Given the description of an element on the screen output the (x, y) to click on. 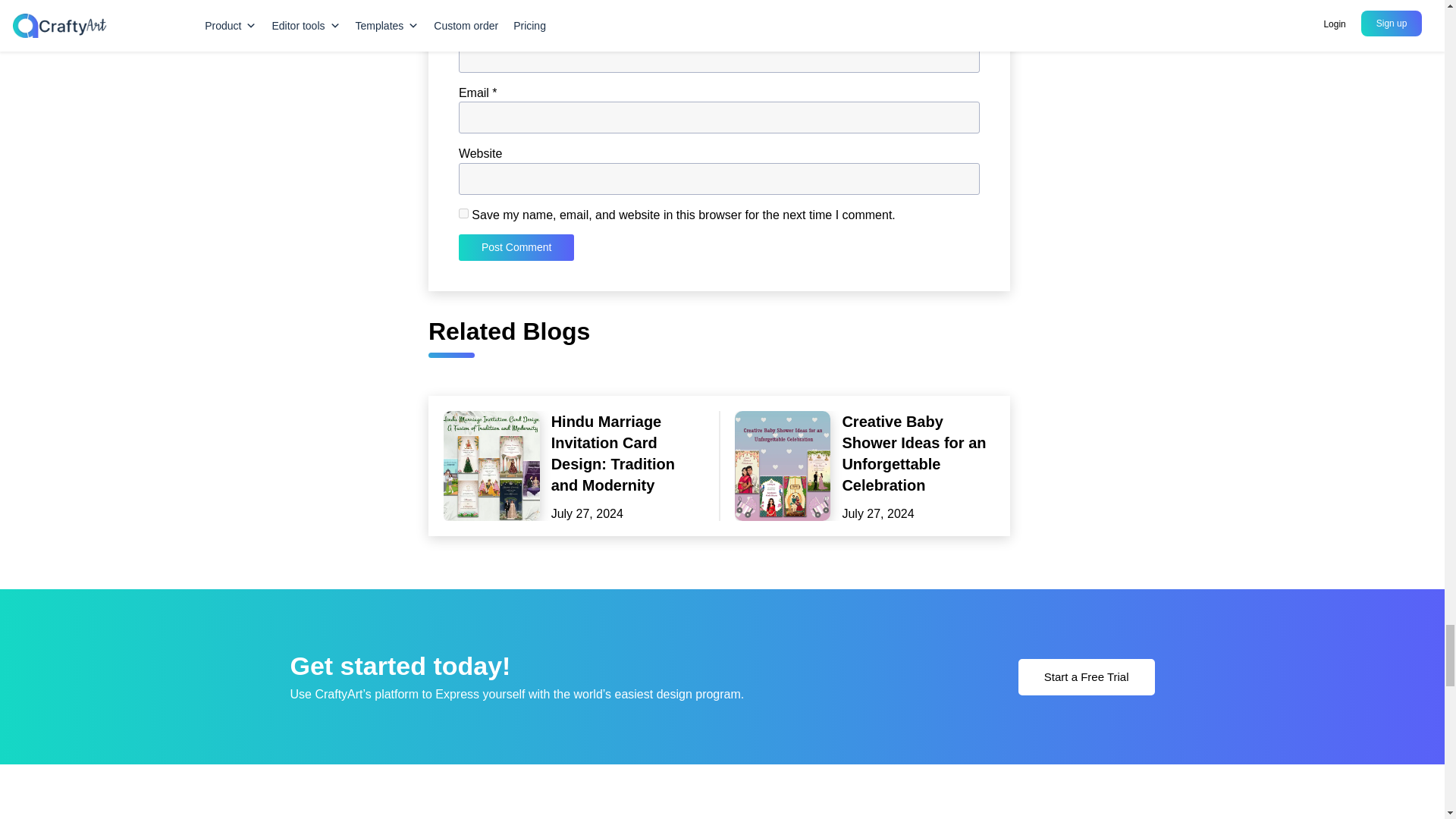
yes (463, 213)
Post Comment (516, 247)
